Given the description of an element on the screen output the (x, y) to click on. 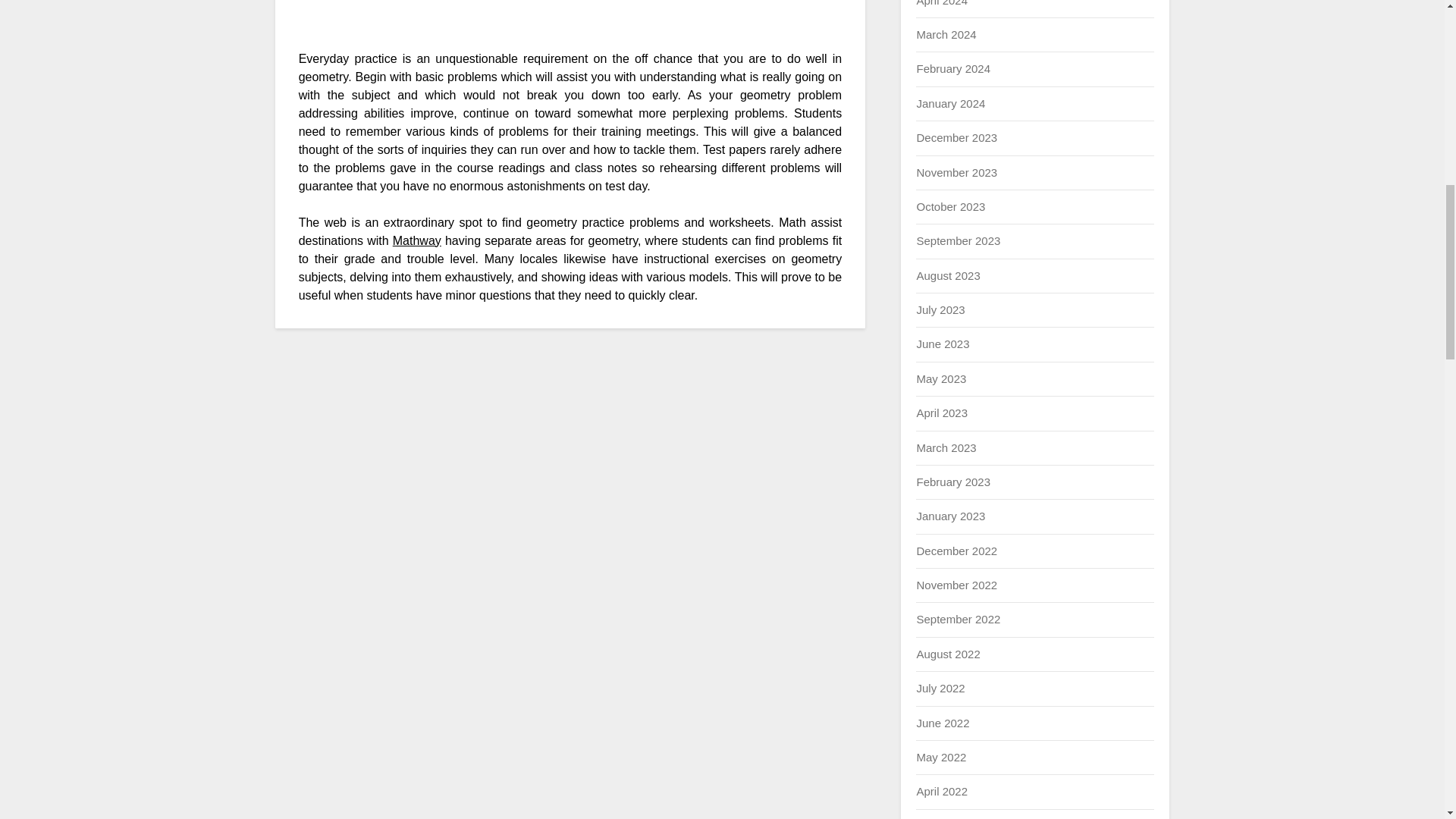
September 2022 (957, 618)
January 2024 (950, 103)
December 2023 (956, 137)
March 2024 (945, 33)
November 2022 (956, 584)
September 2023 (957, 240)
January 2023 (950, 515)
February 2023 (952, 481)
December 2022 (956, 550)
April 2023 (941, 412)
June 2023 (942, 343)
February 2024 (952, 68)
October 2023 (950, 205)
April 2024 (941, 3)
August 2023 (947, 275)
